Given the description of an element on the screen output the (x, y) to click on. 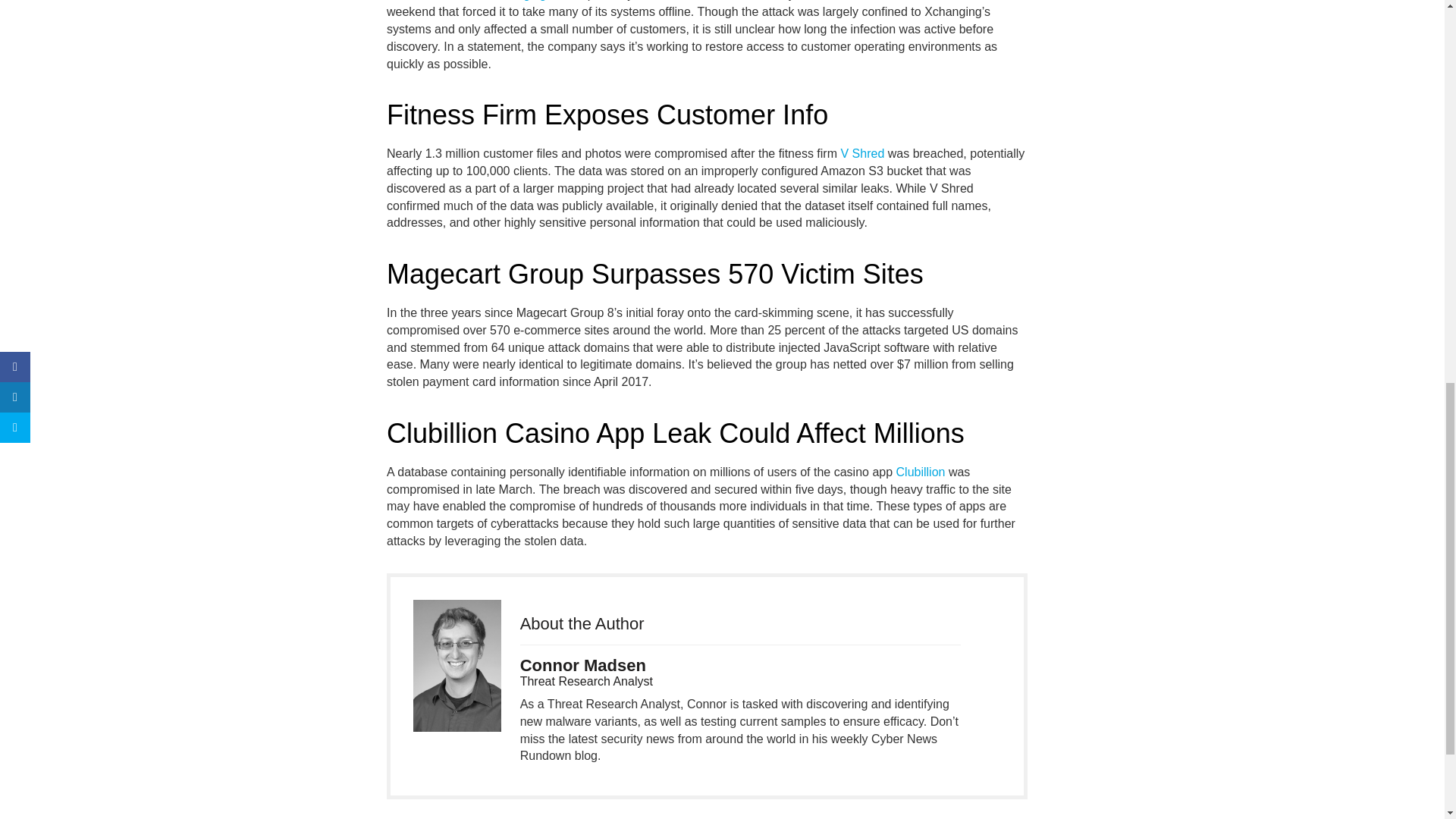
Xchanging (518, 0)
Connor Madsen (582, 665)
V Shred (861, 153)
Clubillion (920, 472)
